Given the description of an element on the screen output the (x, y) to click on. 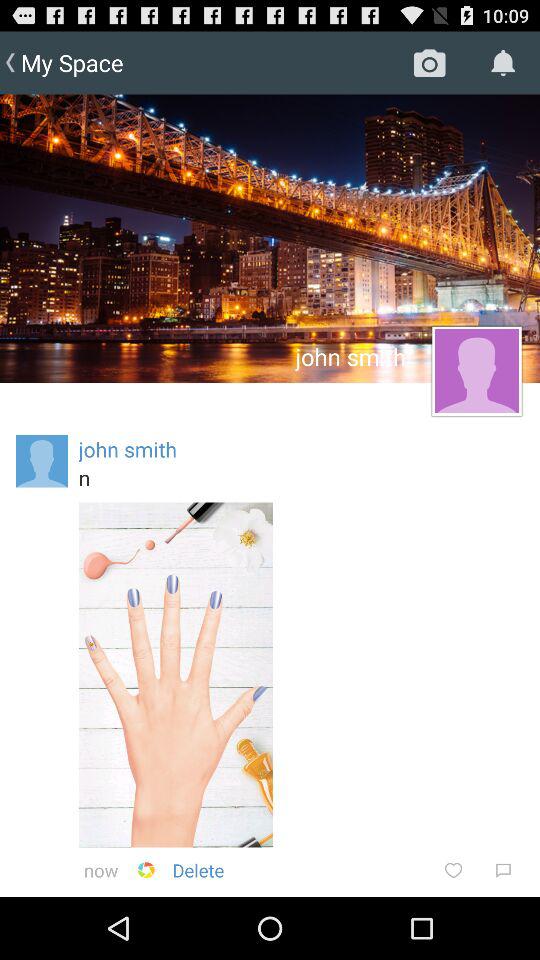
jump to the delete (198, 870)
